Given the description of an element on the screen output the (x, y) to click on. 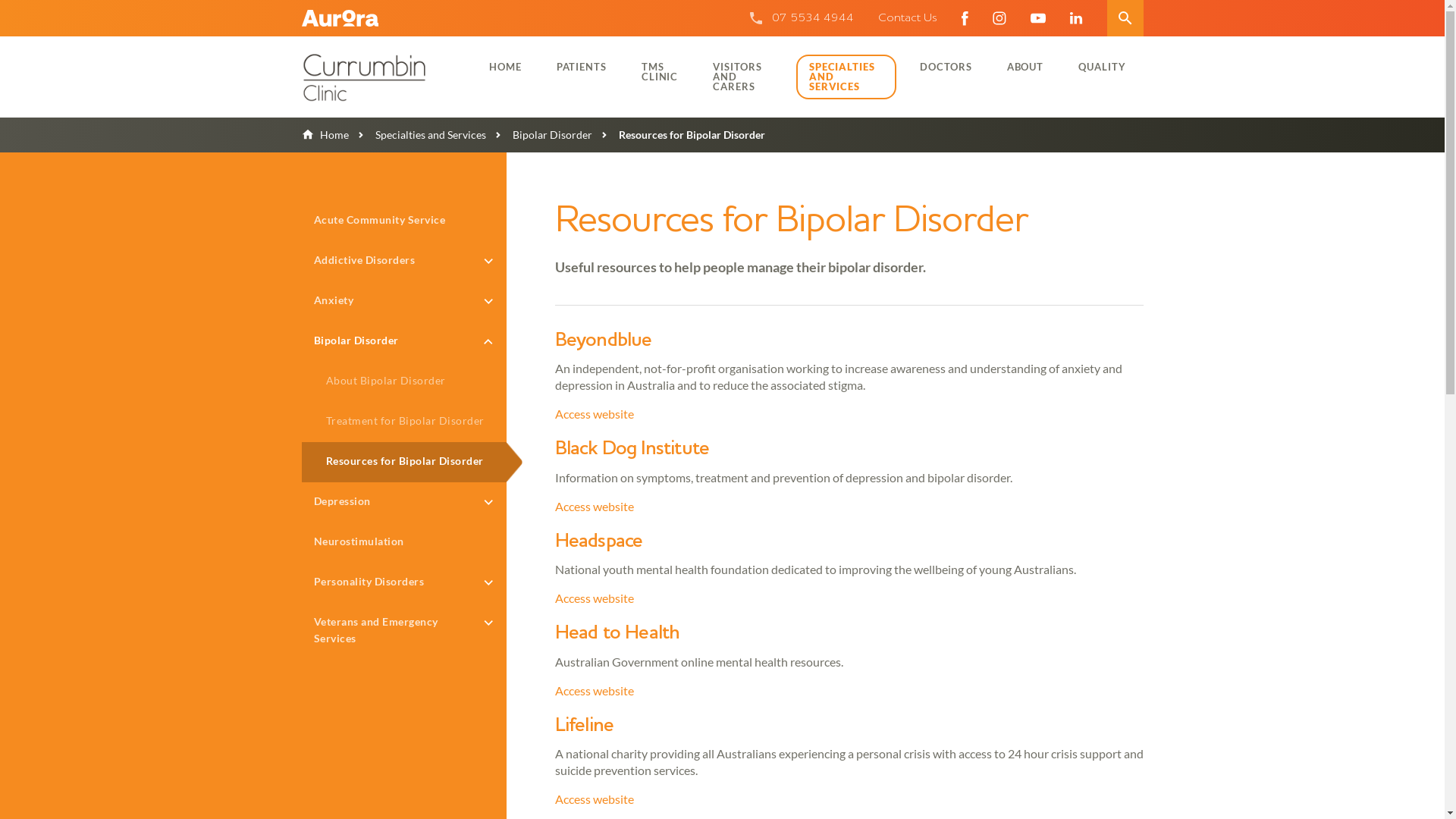
Specialties and Services Element type: text (417, 134)
SPECIALTIES AND SERVICES
(CURRENT) Element type: text (846, 76)
youTube channel page - UCmlIpi6FoZz6aSYolo2XFZA Element type: text (1036, 17)
Home Element type: text (324, 134)
Bipolar Disorder Element type: text (538, 134)
Access website Element type: text (594, 689)
Veterans and Emergency Services Element type: text (403, 630)
Facebook page - currumbinclinichealthecare Element type: text (964, 17)
Resources for Bipolar Disorder Element type: text (403, 462)
Treatment for Bipolar Disorder Element type: text (403, 421)
instagram page - currumbin_clinic Element type: text (998, 18)
Access website Element type: text (594, 798)
VISITORS AND CARERS Element type: text (742, 75)
Anxiety Element type: text (403, 301)
Access website Element type: text (594, 597)
Depression Element type: text (403, 502)
Access website Element type: text (594, 505)
QUALITY Element type: text (1101, 66)
Addictive Disorders Element type: text (403, 261)
07 5534 4944 Element type: text (812, 18)
HOME Element type: text (505, 66)
Acute Community Service Element type: text (403, 220)
ABOUT Element type: text (1025, 66)
Personality Disorders Element type: text (403, 582)
TMS CLINIC Element type: text (659, 71)
Skip to main content Element type: text (0, 0)
Currumbin Clinic Element type: text (380, 77)
About Bipolar Disorder Element type: text (403, 381)
Neurostimulation Element type: text (403, 542)
Access website Element type: text (594, 413)
LinkedIn - 74750267 Element type: text (1075, 18)
PATIENTS Element type: text (581, 66)
Bipolar Disorder Element type: text (403, 341)
DOCTORS Element type: text (945, 66)
Contact Us Element type: text (907, 18)
